Given the description of an element on the screen output the (x, y) to click on. 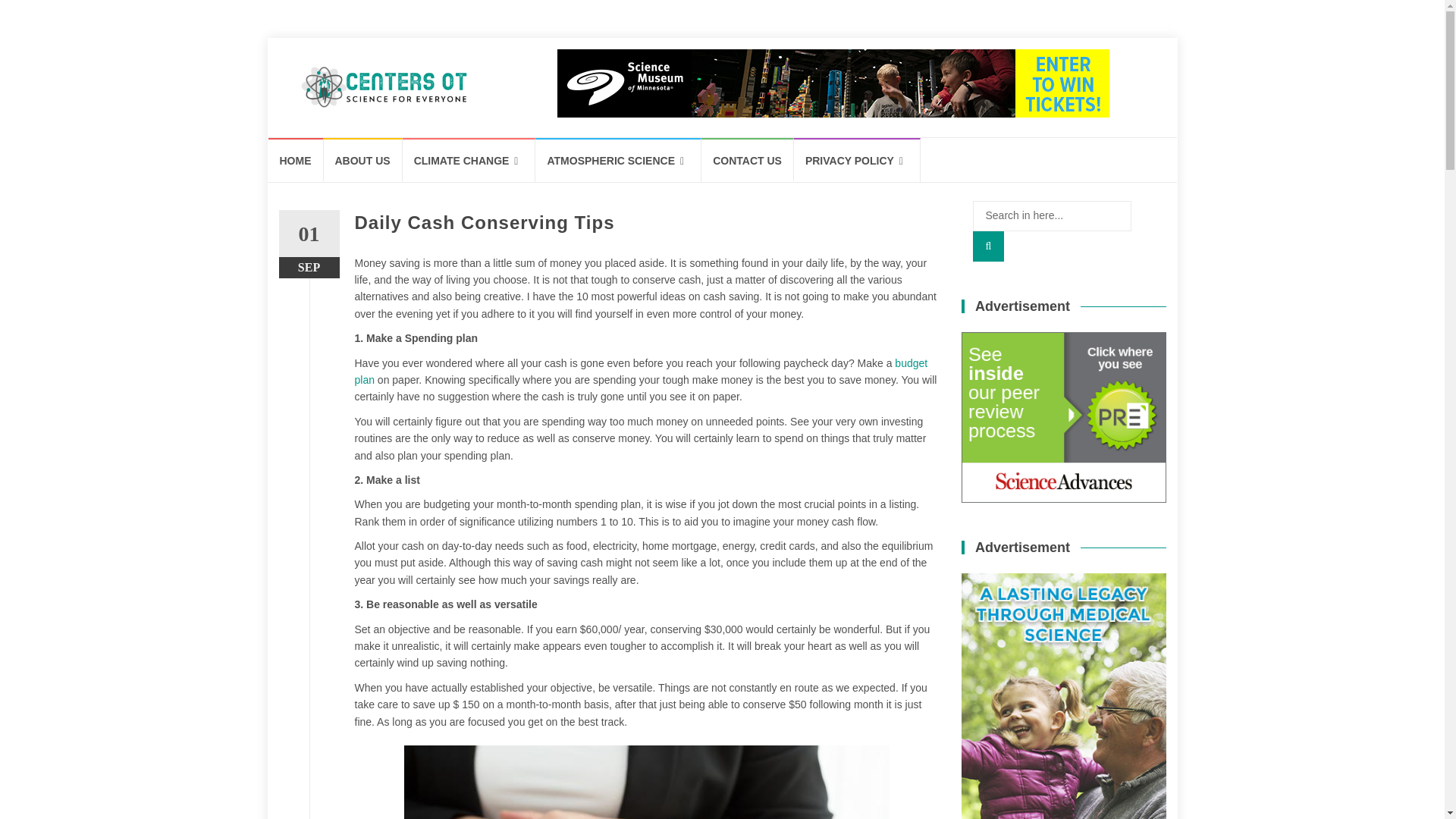
ABOUT US (362, 159)
CLIMATE CHANGE (469, 159)
PRIVACY POLICY (856, 159)
HOME (295, 159)
CONTACT US (747, 159)
Search for: (1051, 215)
budget plan (641, 371)
Search (988, 245)
